Given the description of an element on the screen output the (x, y) to click on. 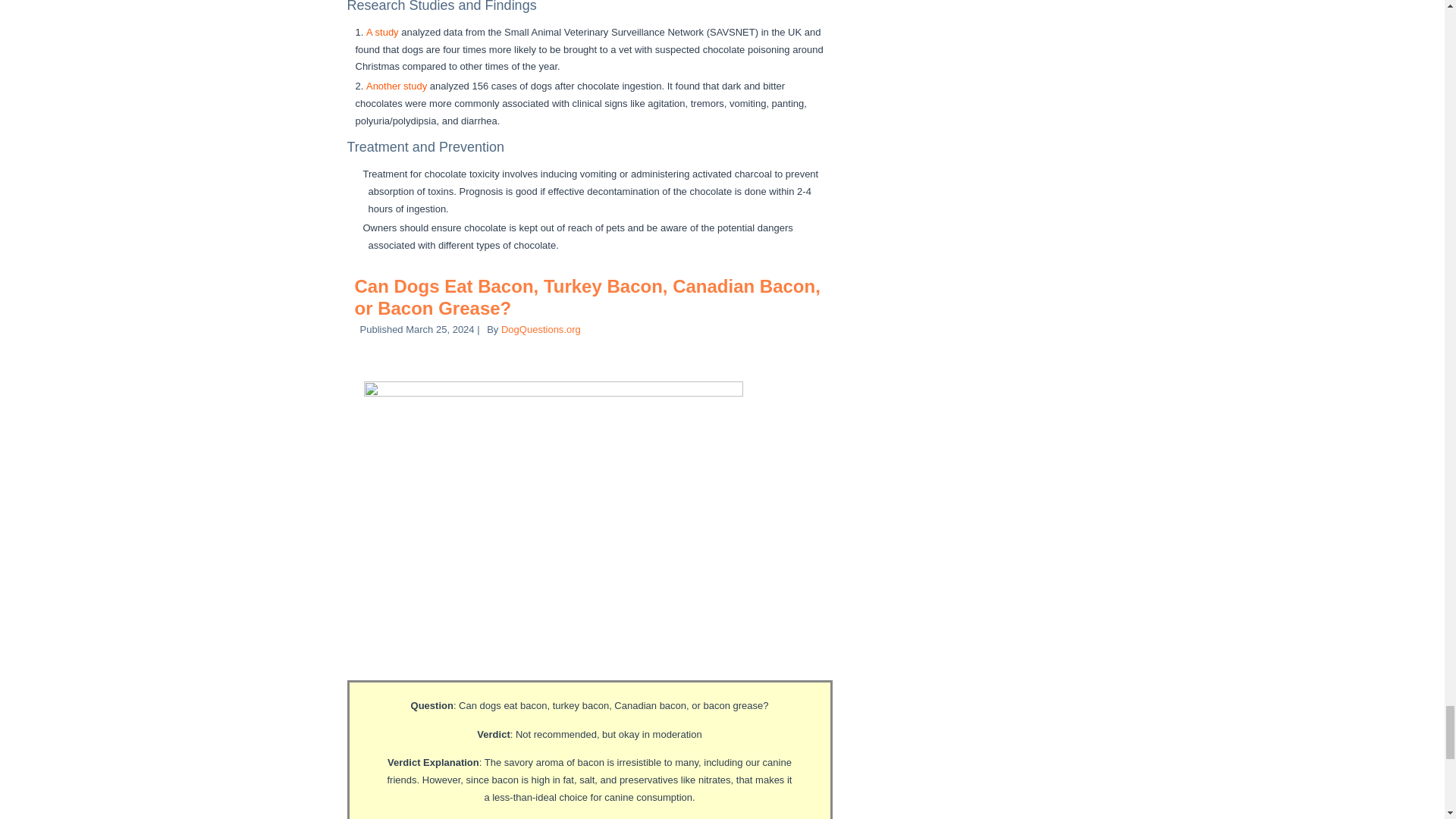
DogQuestions.org (540, 328)
A study (382, 31)
Another study (396, 85)
